Given the description of an element on the screen output the (x, y) to click on. 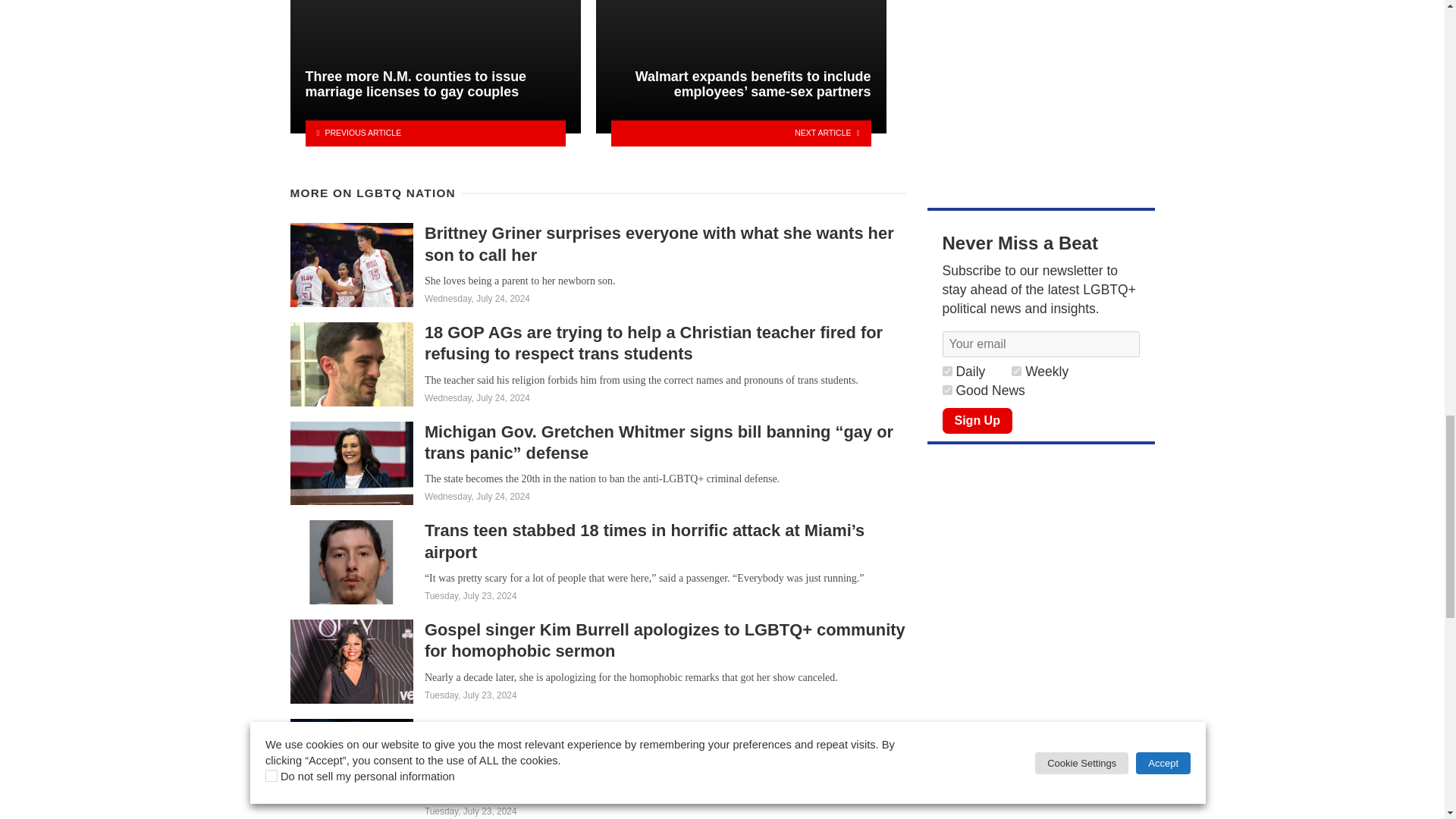
Sign Up (976, 420)
1920885 (947, 370)
1920884 (1016, 370)
1920883 (947, 389)
